Given the description of an element on the screen output the (x, y) to click on. 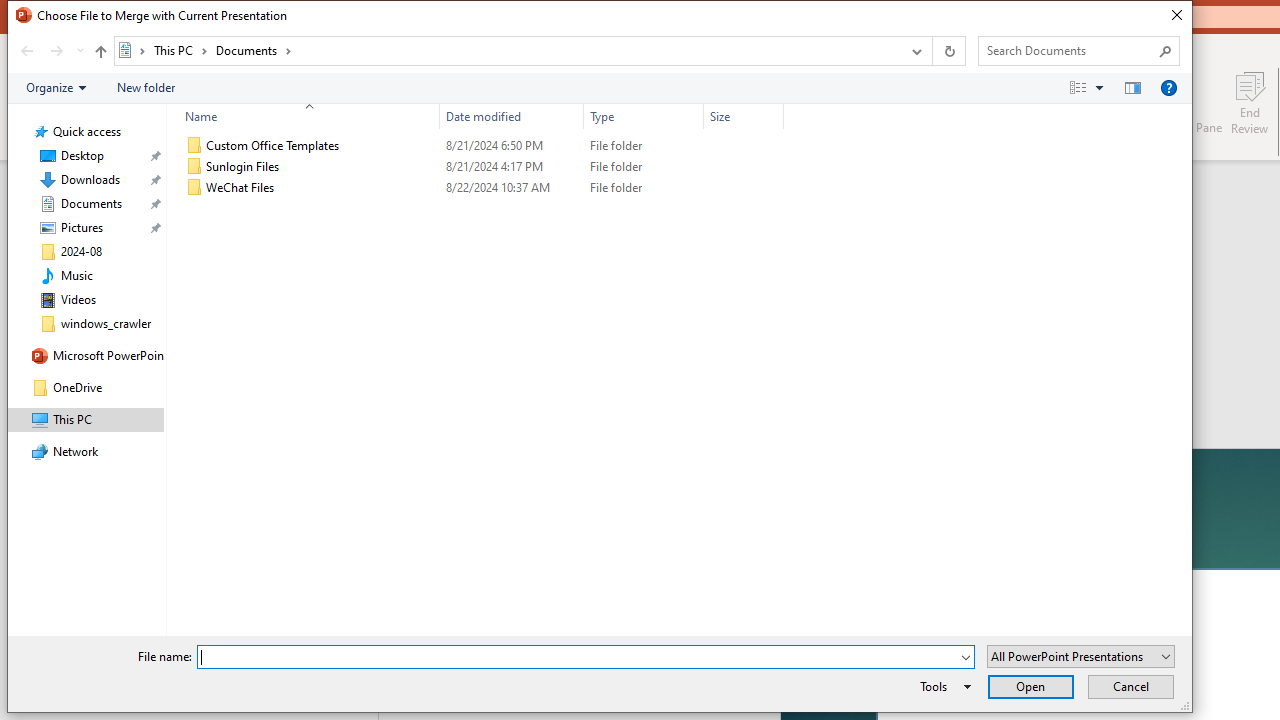
Size (743, 115)
Up to "This PC" (Alt + Up Arrow) (100, 52)
Search Box (1069, 50)
Class: UIImage (194, 187)
Filter dropdown (775, 115)
Views (1090, 87)
Date modified (511, 115)
Documents (253, 50)
Up band toolbar (100, 54)
Refresh "Documents" (F5) (948, 51)
View Slider (1099, 87)
File name: (577, 657)
Tools (942, 686)
